Given the description of an element on the screen output the (x, y) to click on. 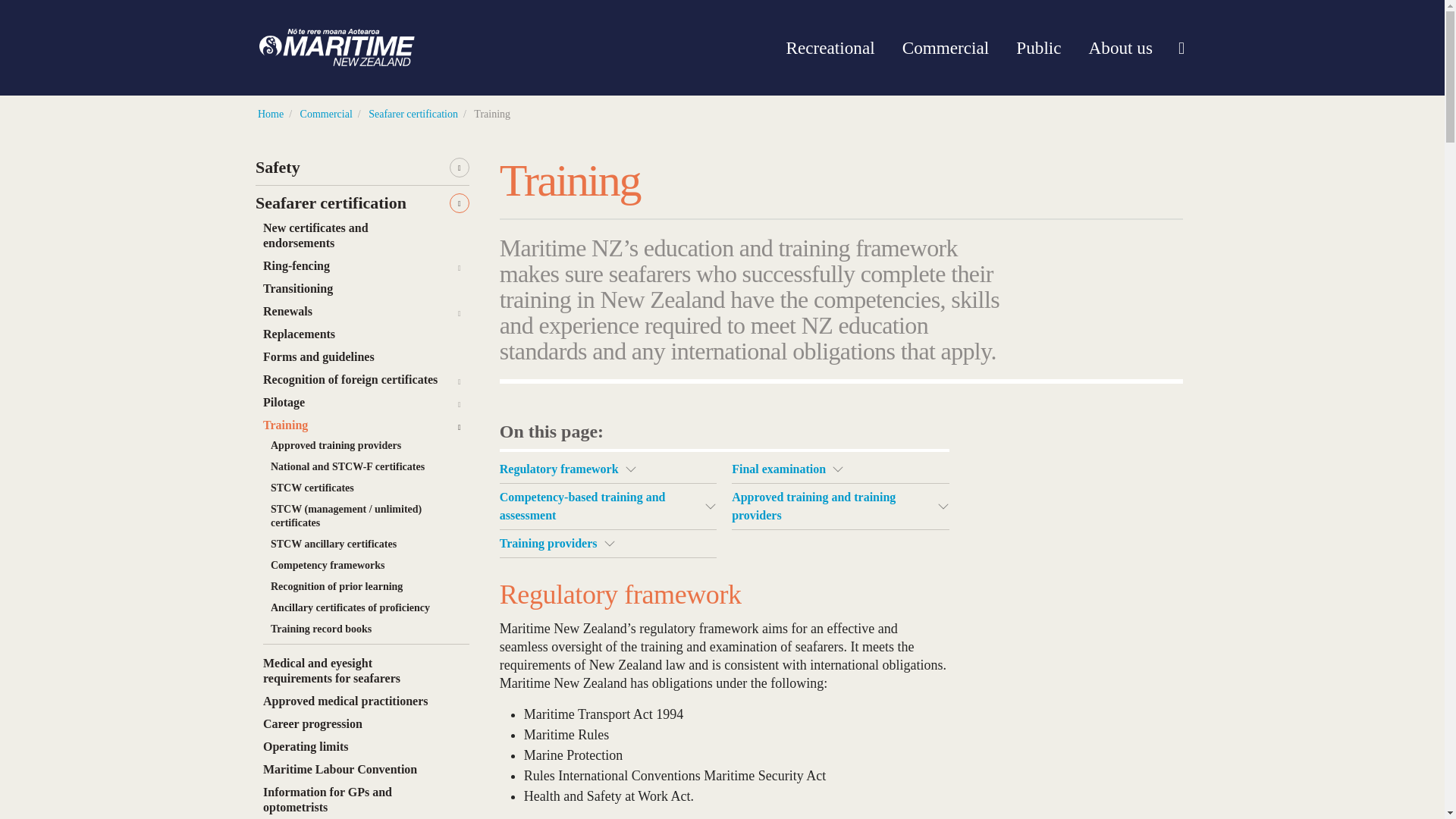
Recreational (829, 47)
